Given the description of an element on the screen output the (x, y) to click on. 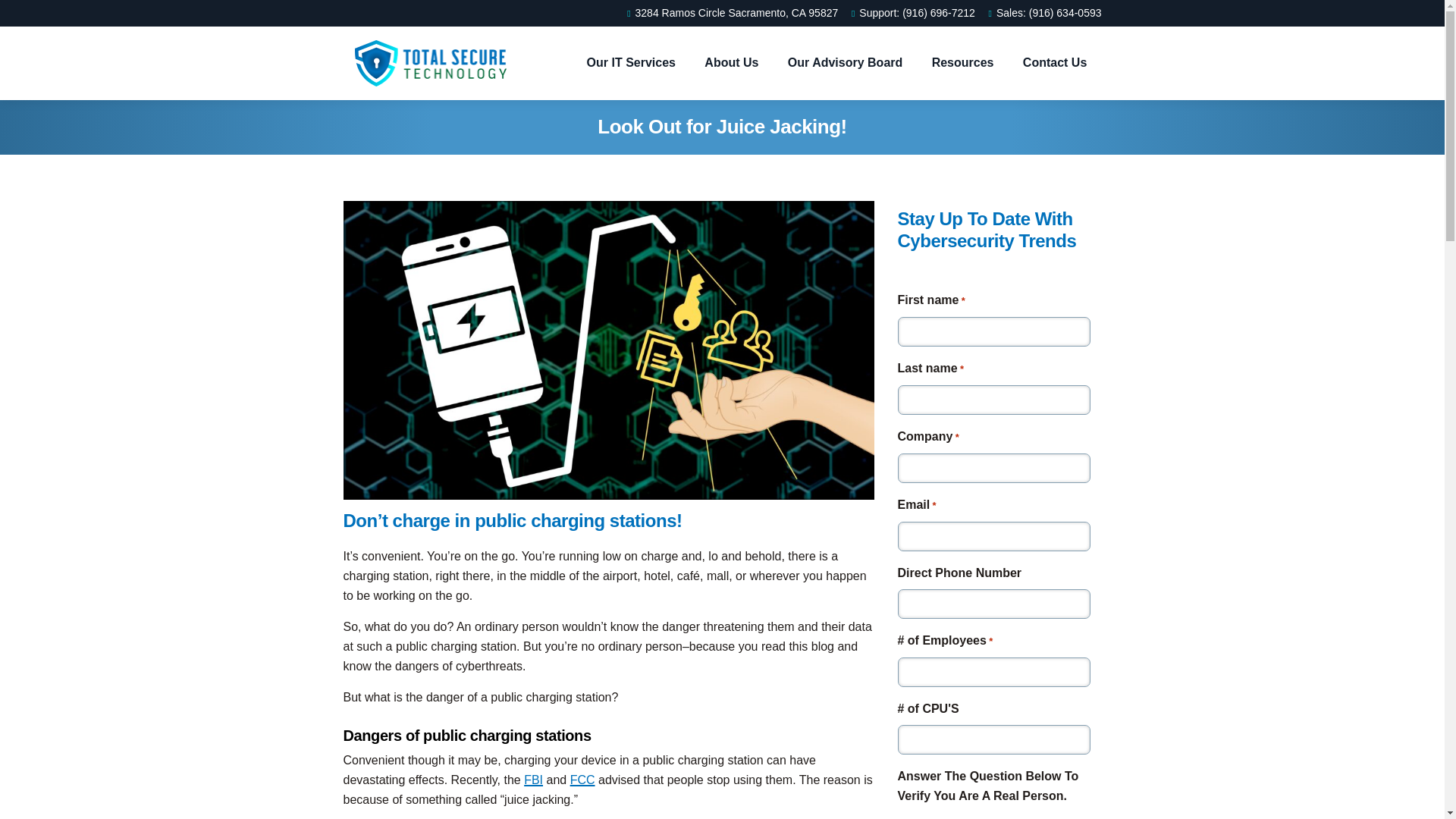
Contact Us (1054, 63)
FCC (582, 779)
3284 Ramos Circle Sacramento, CA 95827 (730, 12)
Resources (962, 63)
Our Advisory Board (844, 63)
FBI (533, 779)
Our IT Services (630, 63)
About Us (731, 63)
